Given the description of an element on the screen output the (x, y) to click on. 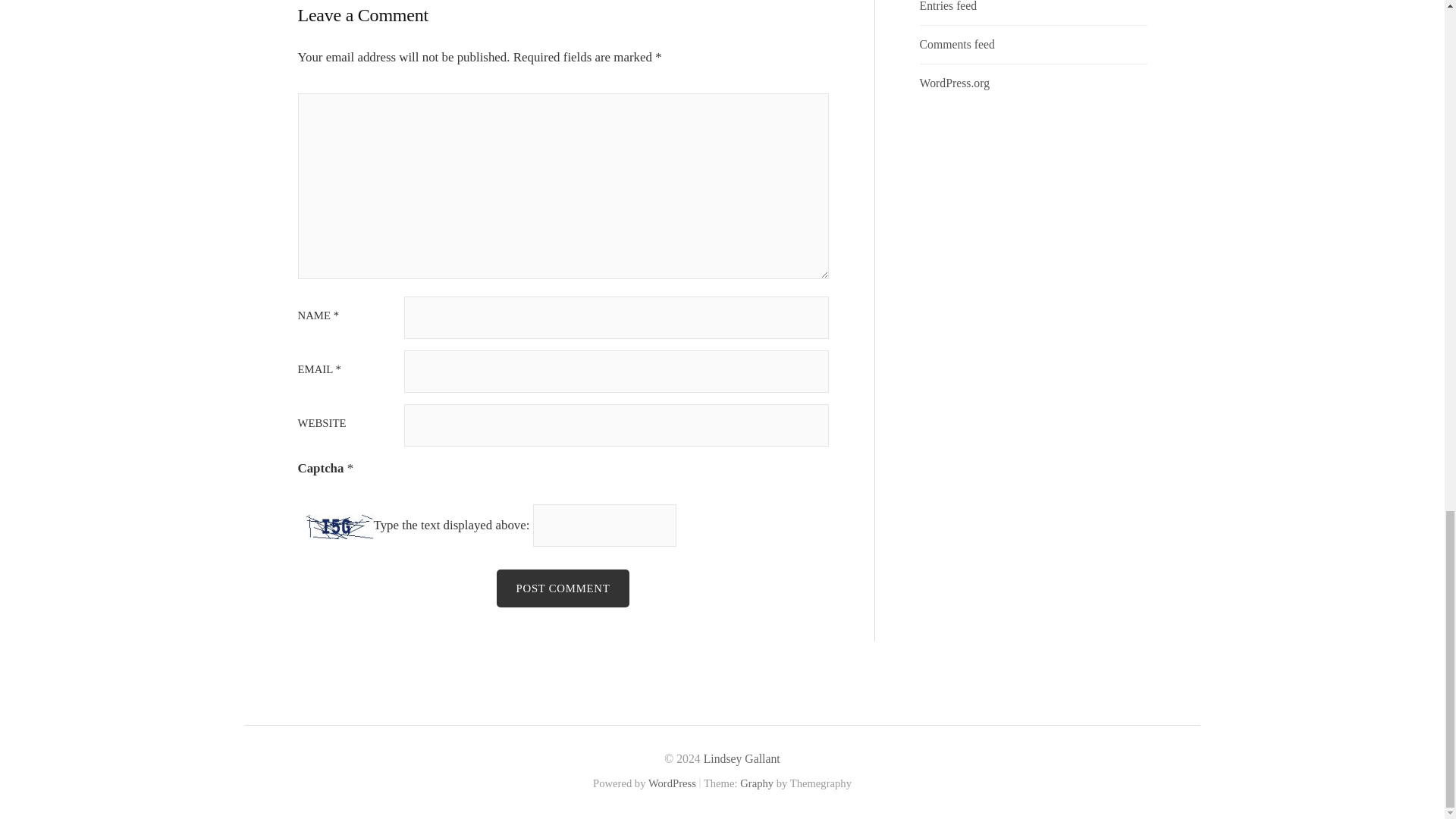
Lindsey Gallant (741, 758)
Post Comment (562, 588)
Graphy (756, 783)
Post Comment (562, 588)
WordPress (671, 783)
Entries feed (948, 6)
WordPress.org (955, 82)
Comments feed (957, 43)
